Given the description of an element on the screen output the (x, y) to click on. 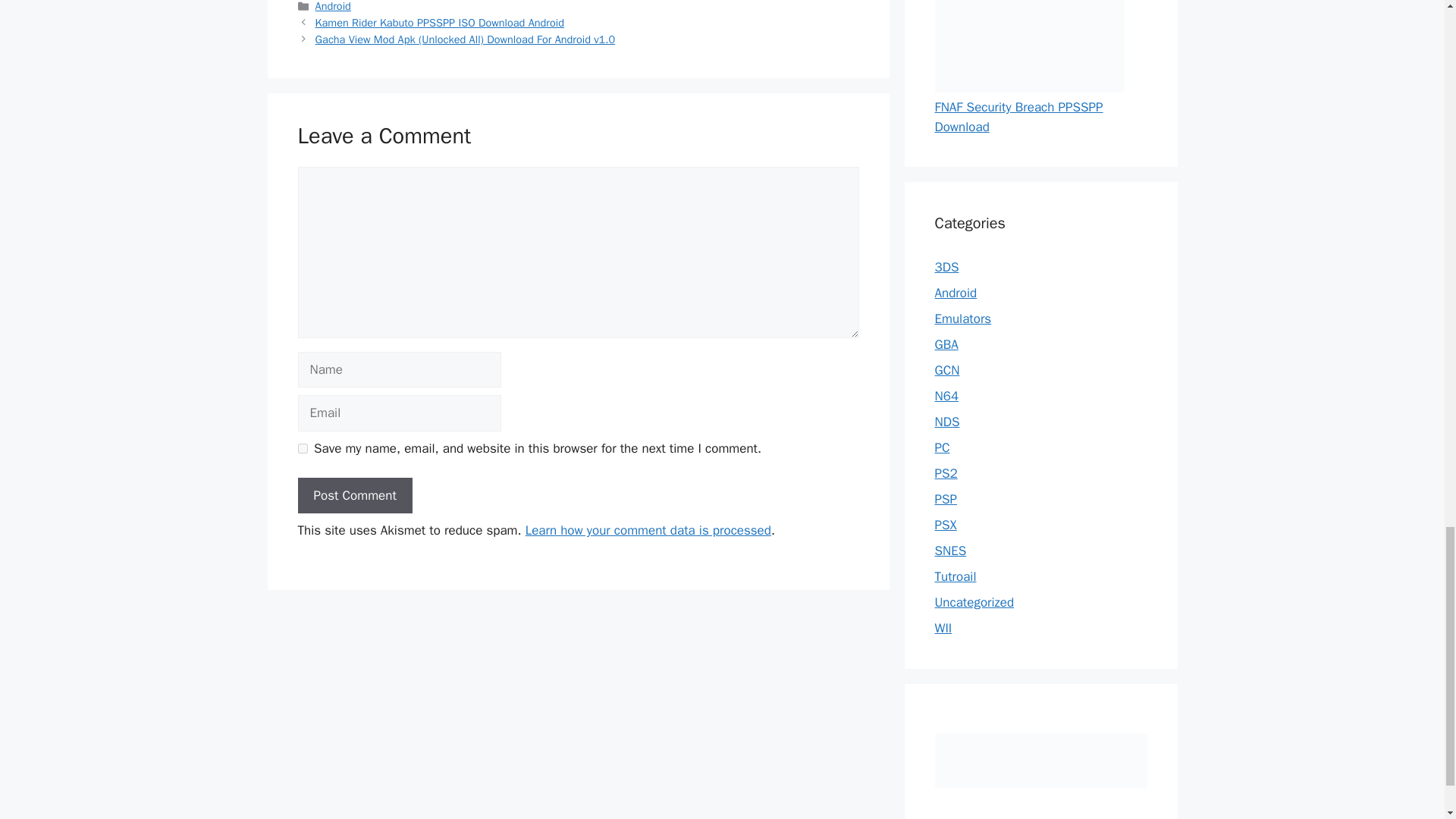
Learn how your comment data is processed (648, 530)
yes (302, 448)
Android (332, 6)
Post Comment (354, 495)
Kamen Rider Kabuto PPSSPP ISO Download Android (439, 22)
Post Comment (354, 495)
